Given the description of an element on the screen output the (x, y) to click on. 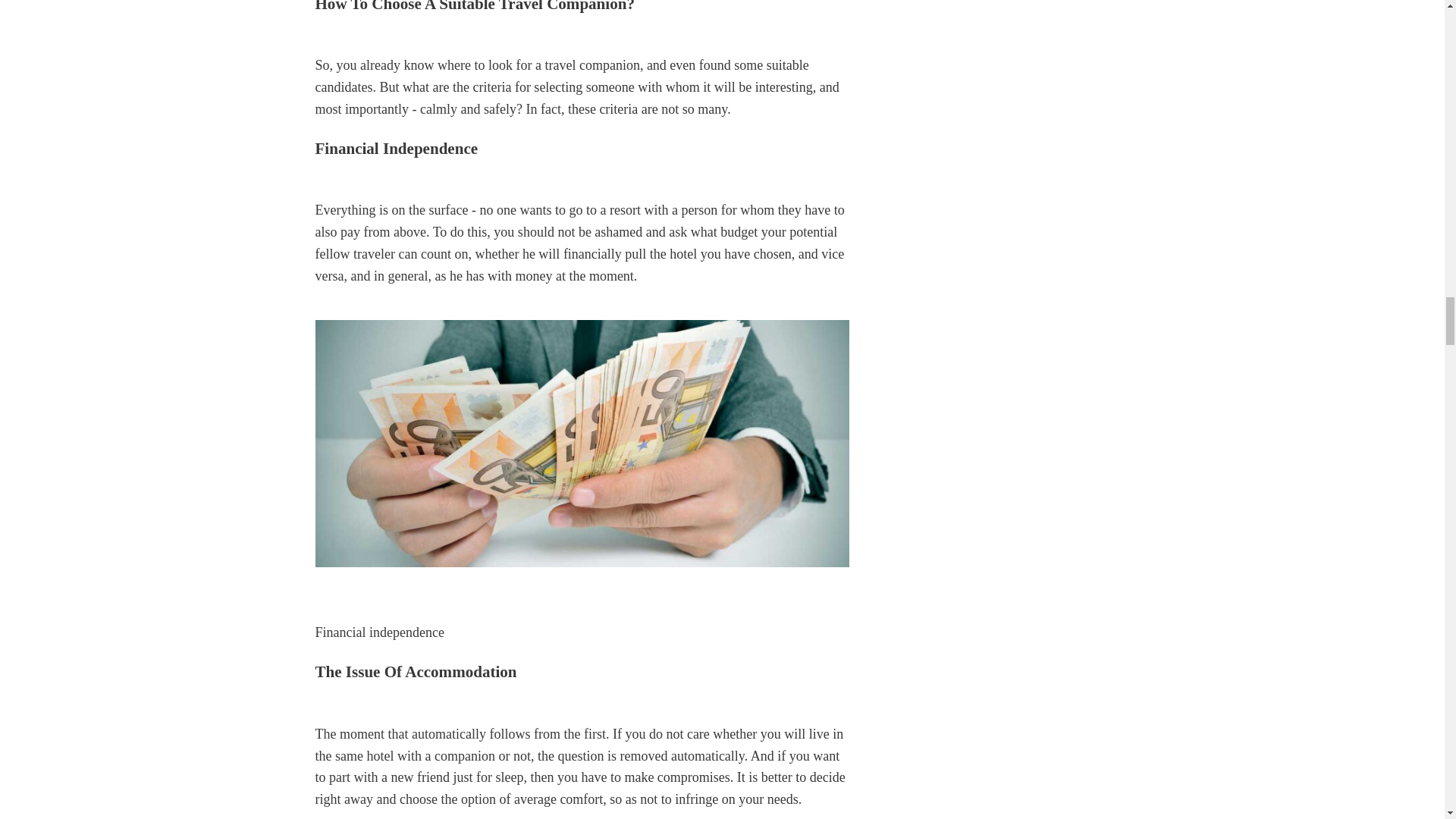
Financial independence (581, 443)
